Given the description of an element on the screen output the (x, y) to click on. 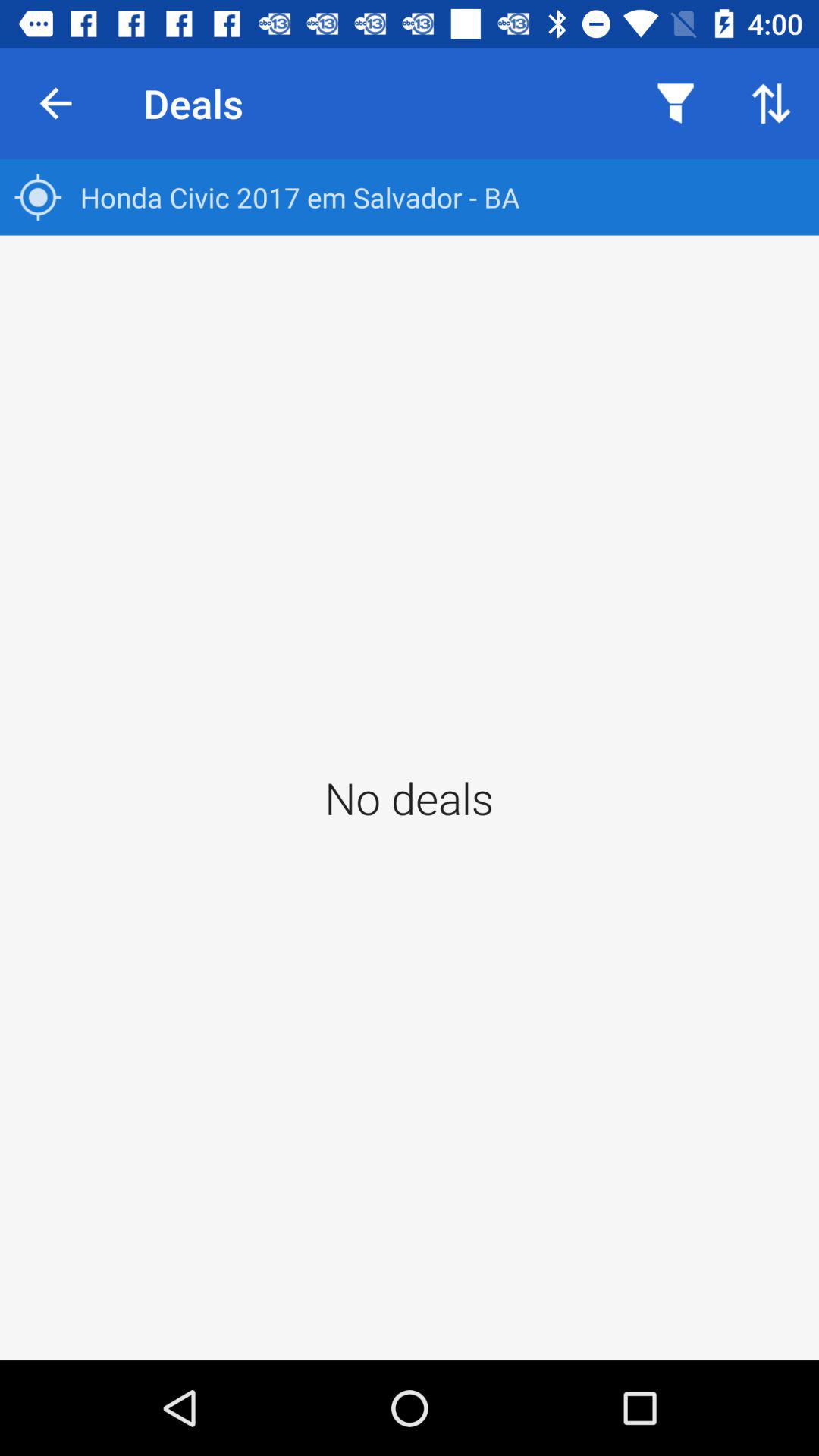
open honda civic 2017 (409, 197)
